Given the description of an element on the screen output the (x, y) to click on. 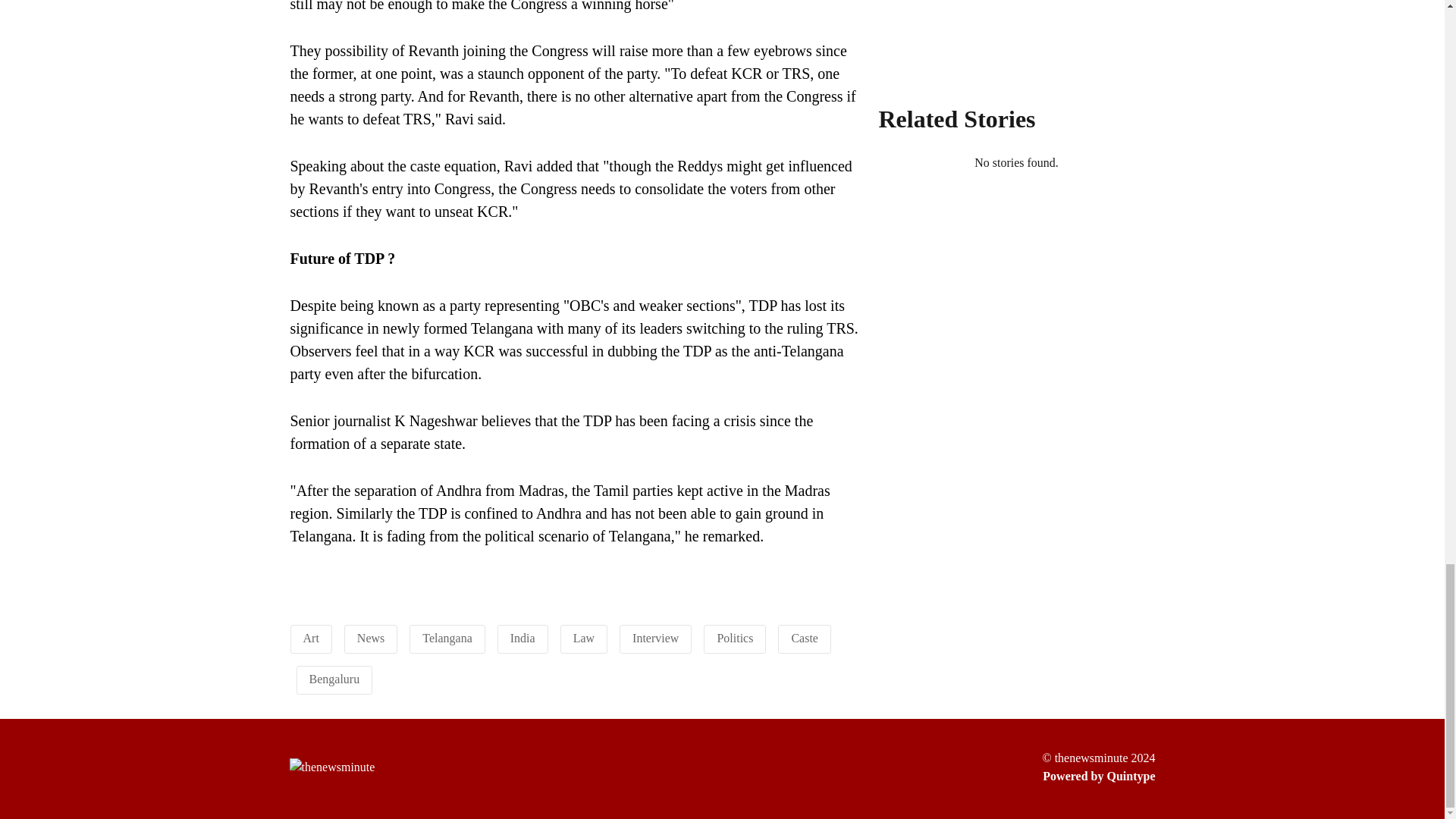
News (370, 637)
Interview (654, 637)
Powered by Quintype (1098, 776)
Caste (804, 637)
Politics (734, 637)
India (523, 637)
Bengaluru (333, 678)
Art (310, 637)
Law (583, 637)
Telangana (446, 637)
